Given the description of an element on the screen output the (x, y) to click on. 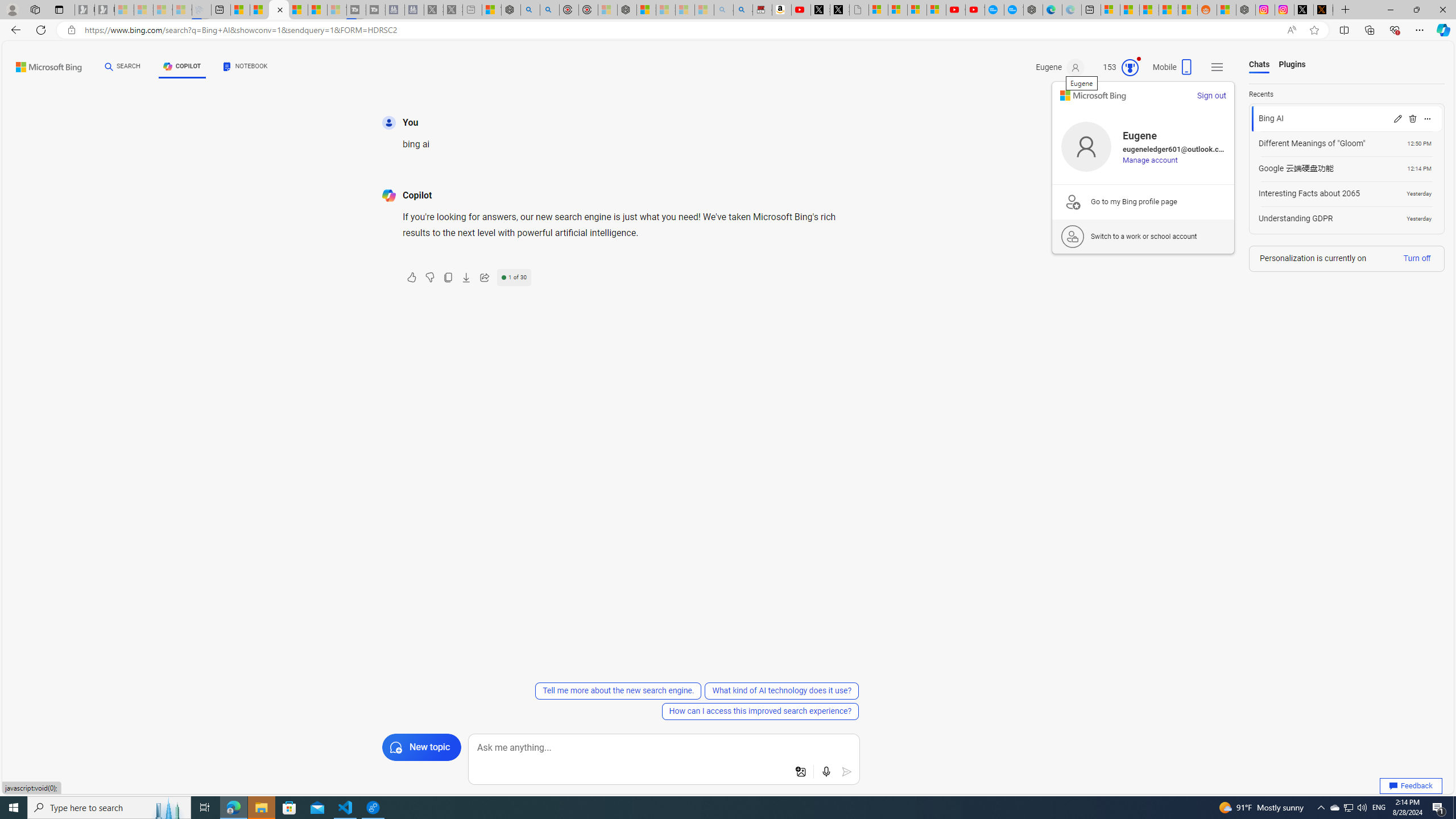
Minimize (1390, 9)
Shanghai, China hourly forecast | Microsoft Weather (1148, 9)
amazon - Search - Sleeping (723, 9)
Personal Profile (12, 9)
Newsletter Sign Up - Sleeping (104, 9)
Collections (1369, 29)
Use microphone (826, 771)
Chat (109, 65)
New Tab (1346, 9)
Delete (1412, 118)
Copilot (Ctrl+Shift+.) (1442, 29)
SEARCH (122, 66)
How can I access this improved search experience? (760, 710)
